Given the description of an element on the screen output the (x, y) to click on. 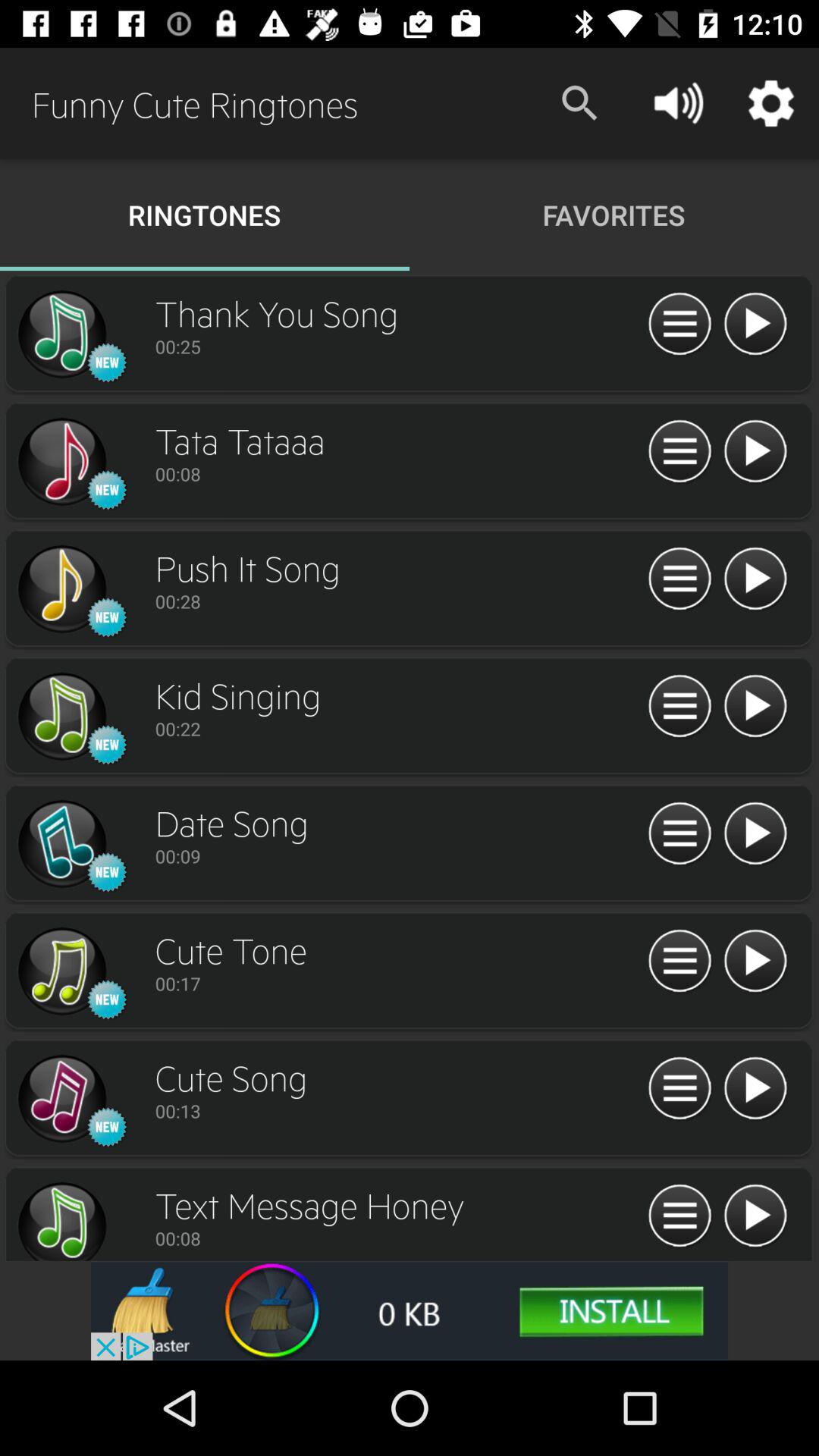
play the track (755, 451)
